Given the description of an element on the screen output the (x, y) to click on. 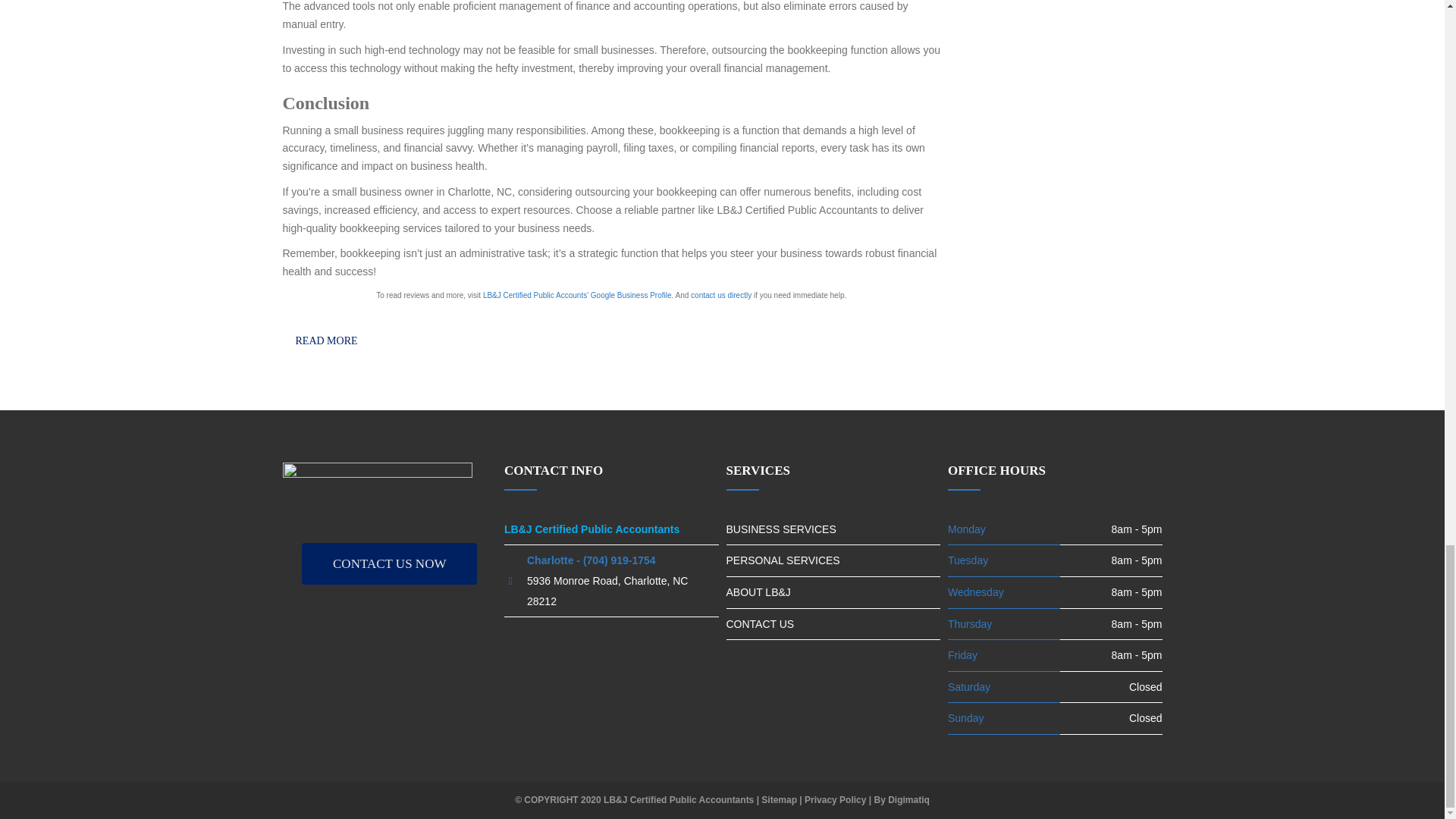
contact us directly (720, 295)
READ MORE (325, 340)
CONTACT US NOW (389, 563)
BUSINESS SERVICES (833, 529)
PERSONAL SERVICES (833, 560)
